Given the description of an element on the screen output the (x, y) to click on. 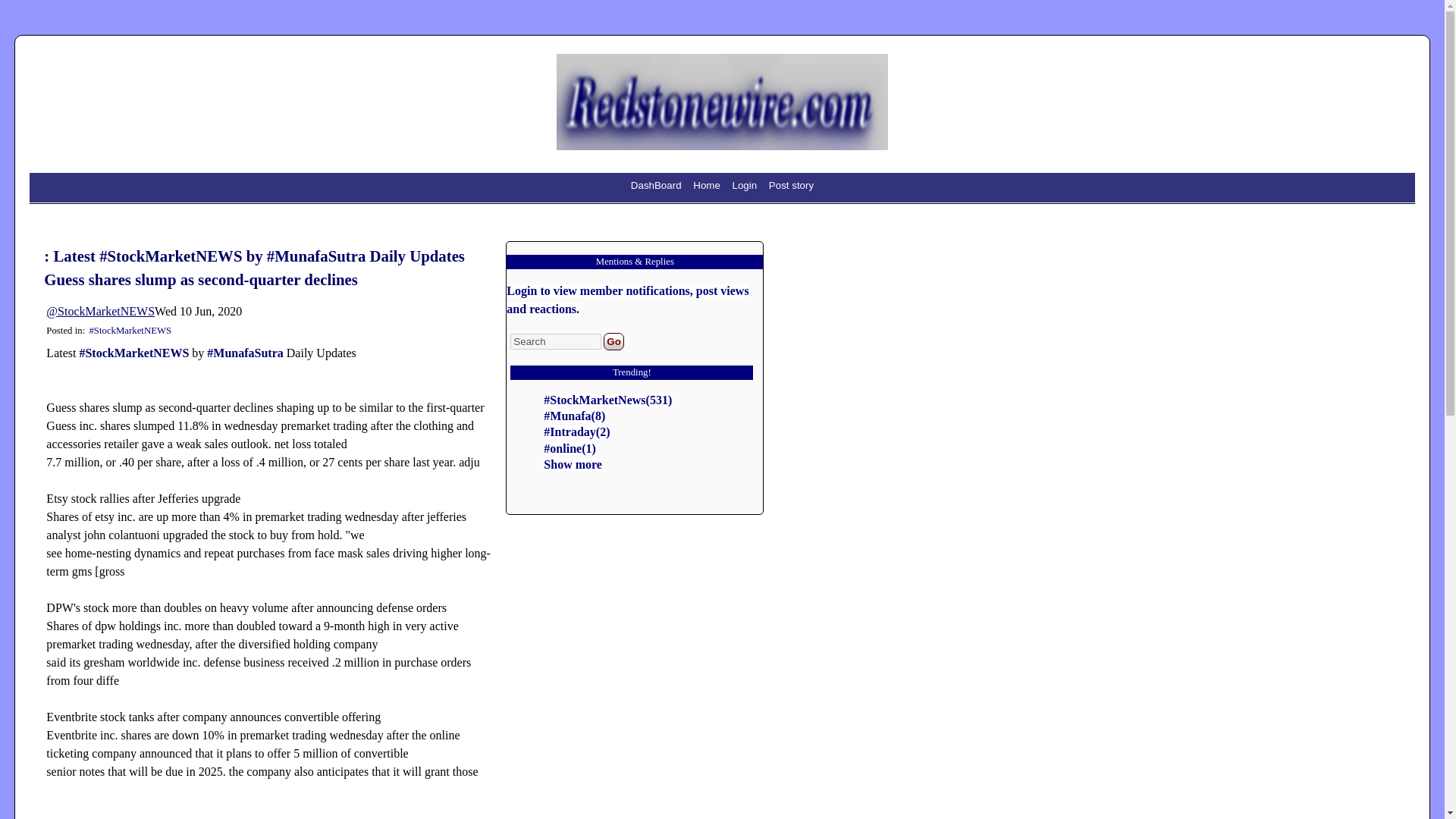
Home (706, 185)
Go (614, 341)
DashBoard (656, 185)
Search (556, 341)
Post story (790, 185)
Login (746, 185)
